Given the description of an element on the screen output the (x, y) to click on. 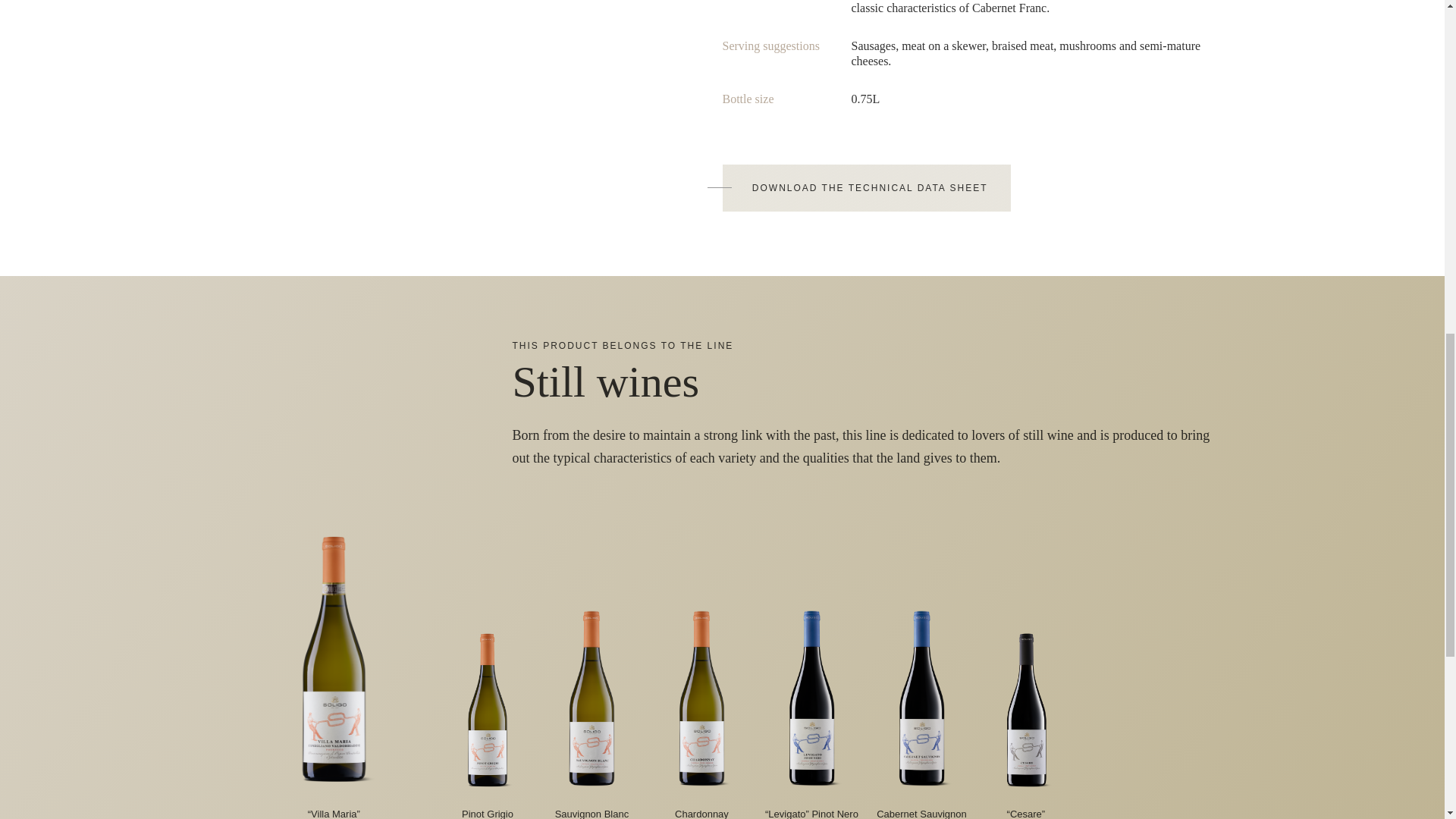
DOWNLOAD THE TECHNICAL DATA SHEET (866, 187)
